Given the description of an element on the screen output the (x, y) to click on. 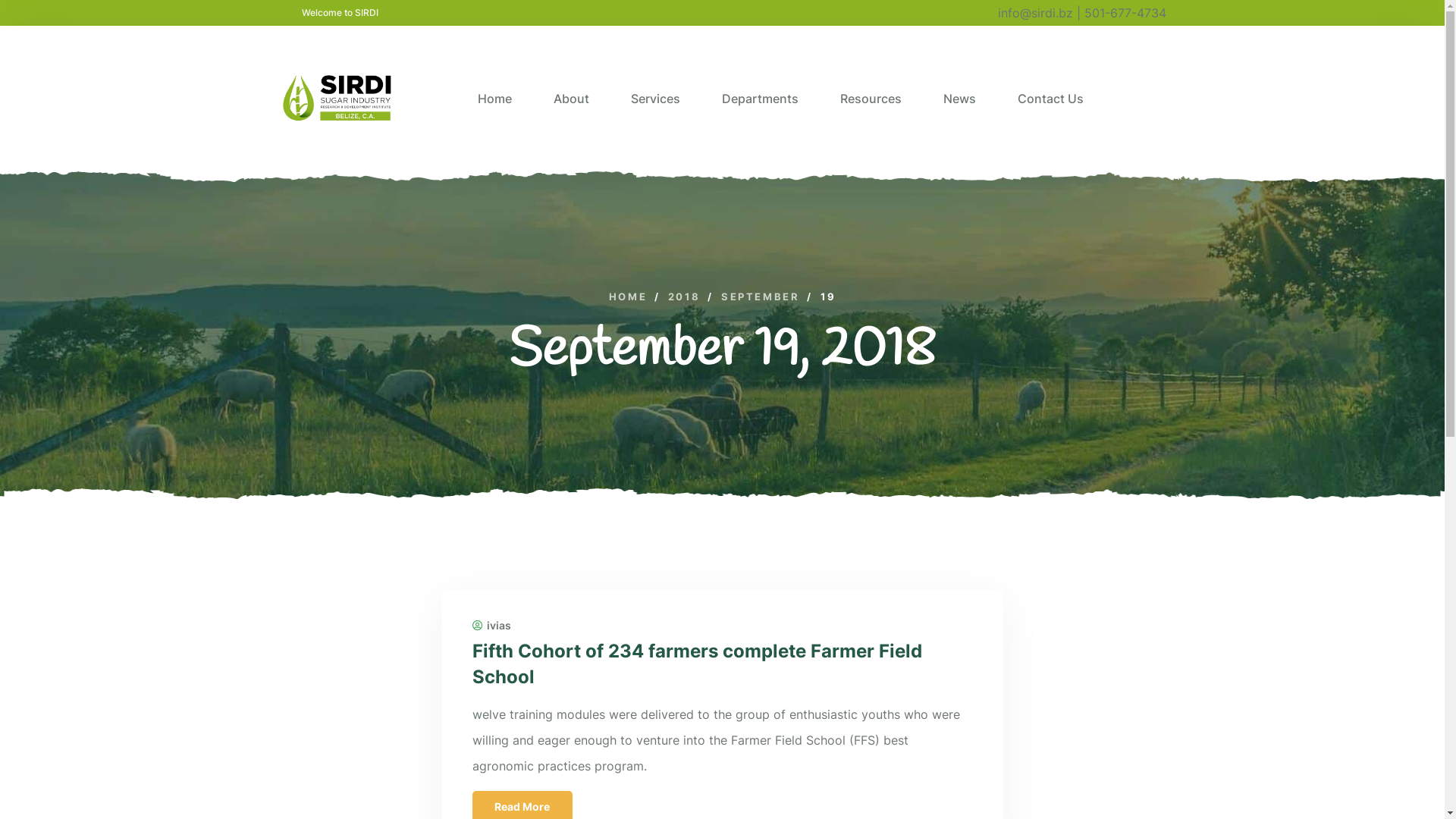
Home Element type: text (494, 97)
ivias Element type: text (490, 625)
About Element type: text (571, 97)
Fifth Cohort of 234 farmers complete Farmer Field School Element type: text (696, 663)
HOME Element type: text (627, 296)
2018 Element type: text (683, 296)
Departments Element type: text (759, 97)
Contact Us Element type: text (1050, 97)
SEPTEMBER Element type: text (760, 296)
Services Element type: text (655, 97)
News Element type: text (959, 97)
Resources Element type: text (870, 97)
